Given the description of an element on the screen output the (x, y) to click on. 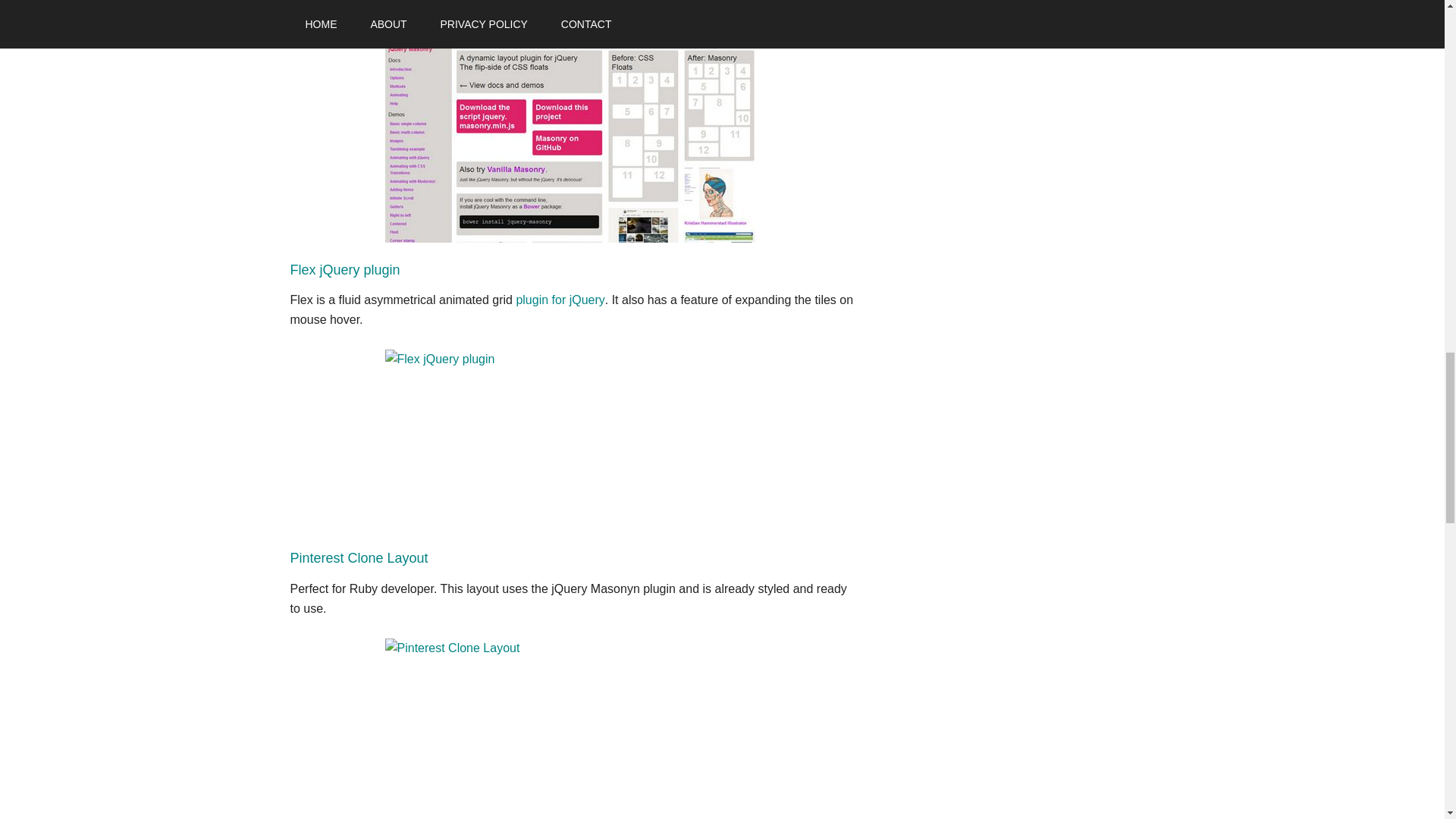
Pinterest Clone Layout (358, 557)
plugin for jQuery (559, 299)
Flex jQuery plugin (343, 269)
